Given the description of an element on the screen output the (x, y) to click on. 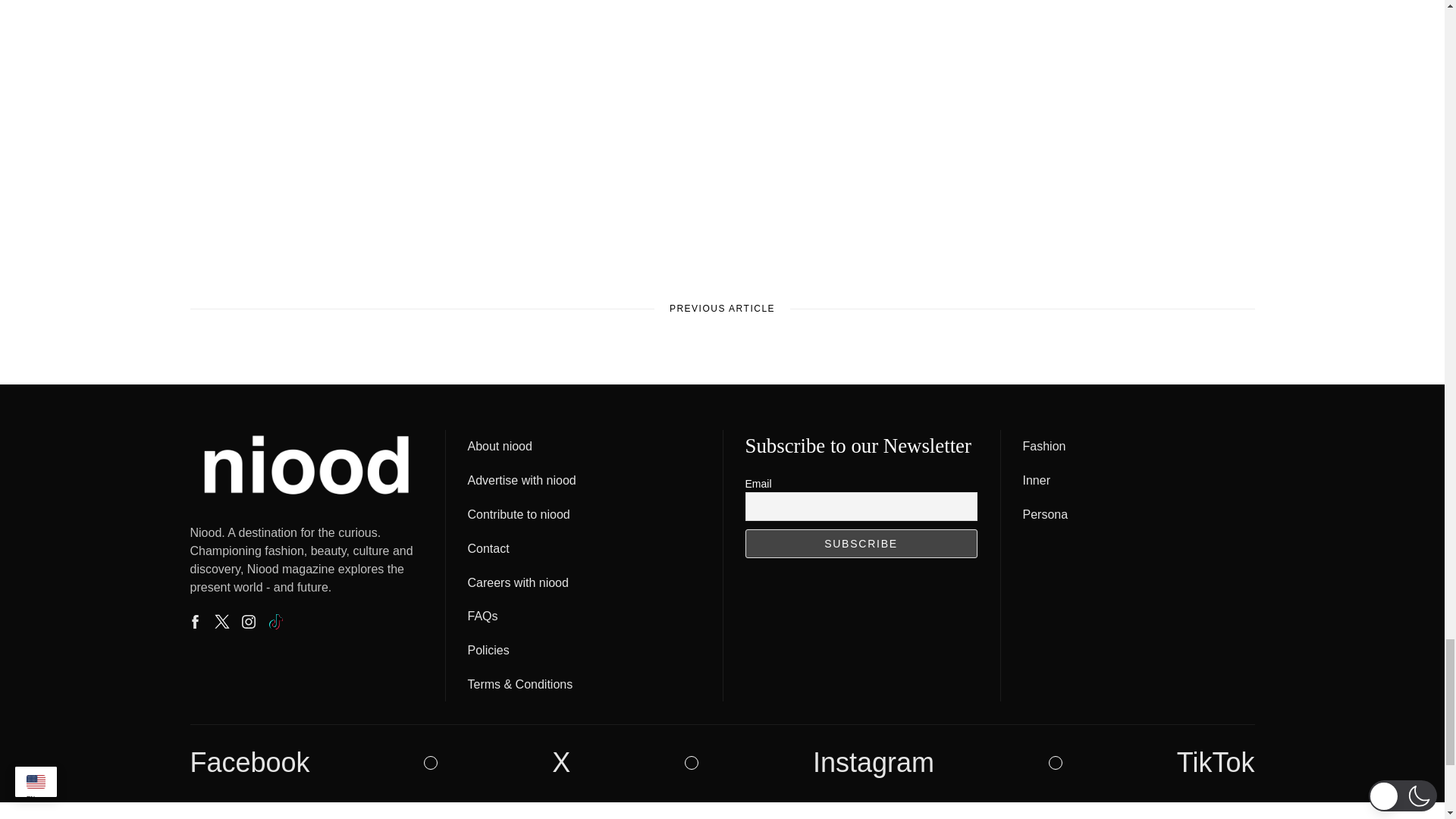
Subscribe (860, 543)
